Given the description of an element on the screen output the (x, y) to click on. 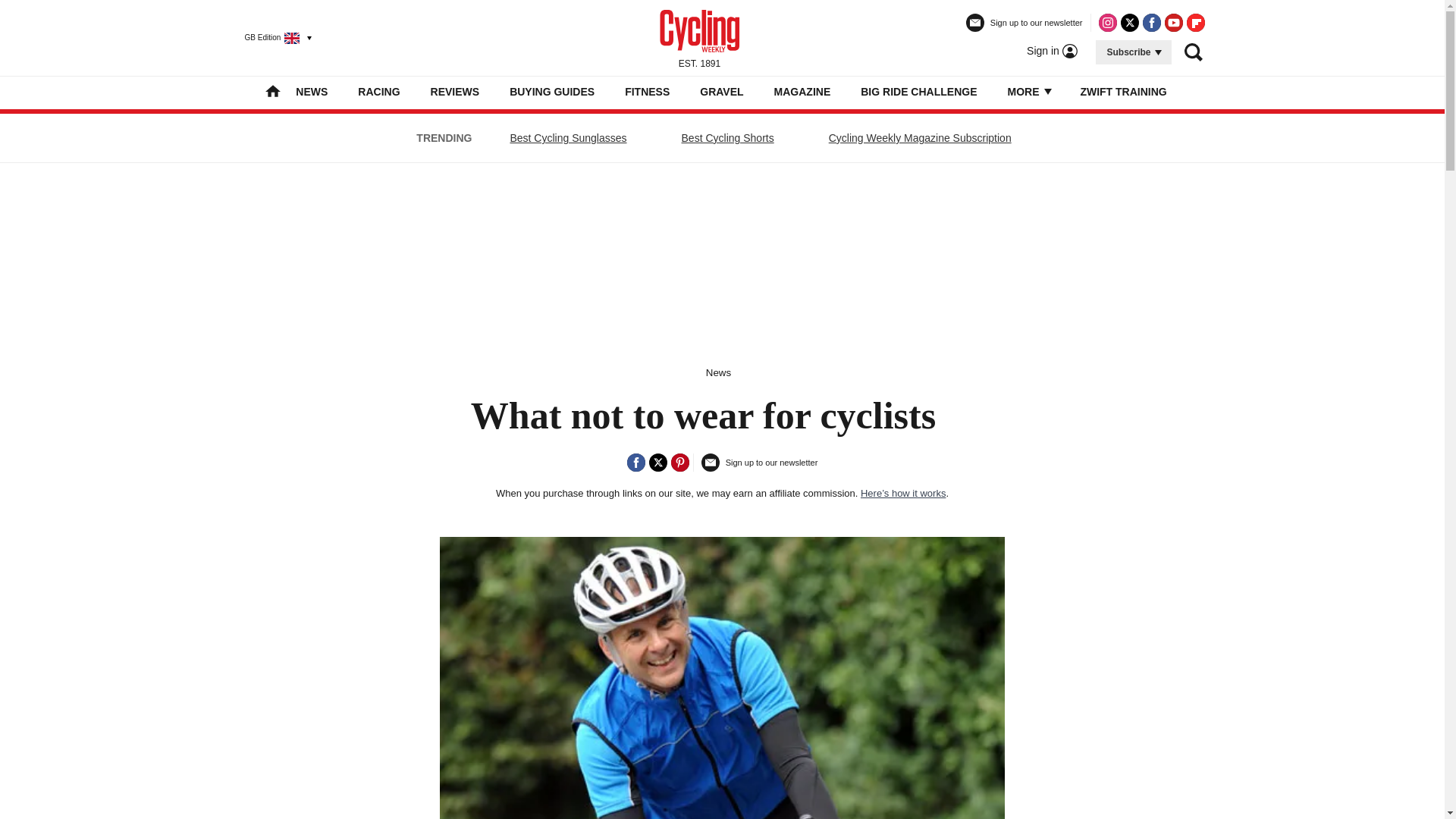
News (718, 372)
FITNESS (646, 91)
ZWIFT TRAINING (1123, 91)
Best Cycling Sunglasses (567, 137)
BIG RIDE CHALLENGE (918, 91)
BUYING GUIDES (551, 91)
RACING (378, 91)
Best Cycling Shorts (727, 137)
Sign up to our newsletter (1024, 28)
EST. 1891 (699, 37)
